Given the description of an element on the screen output the (x, y) to click on. 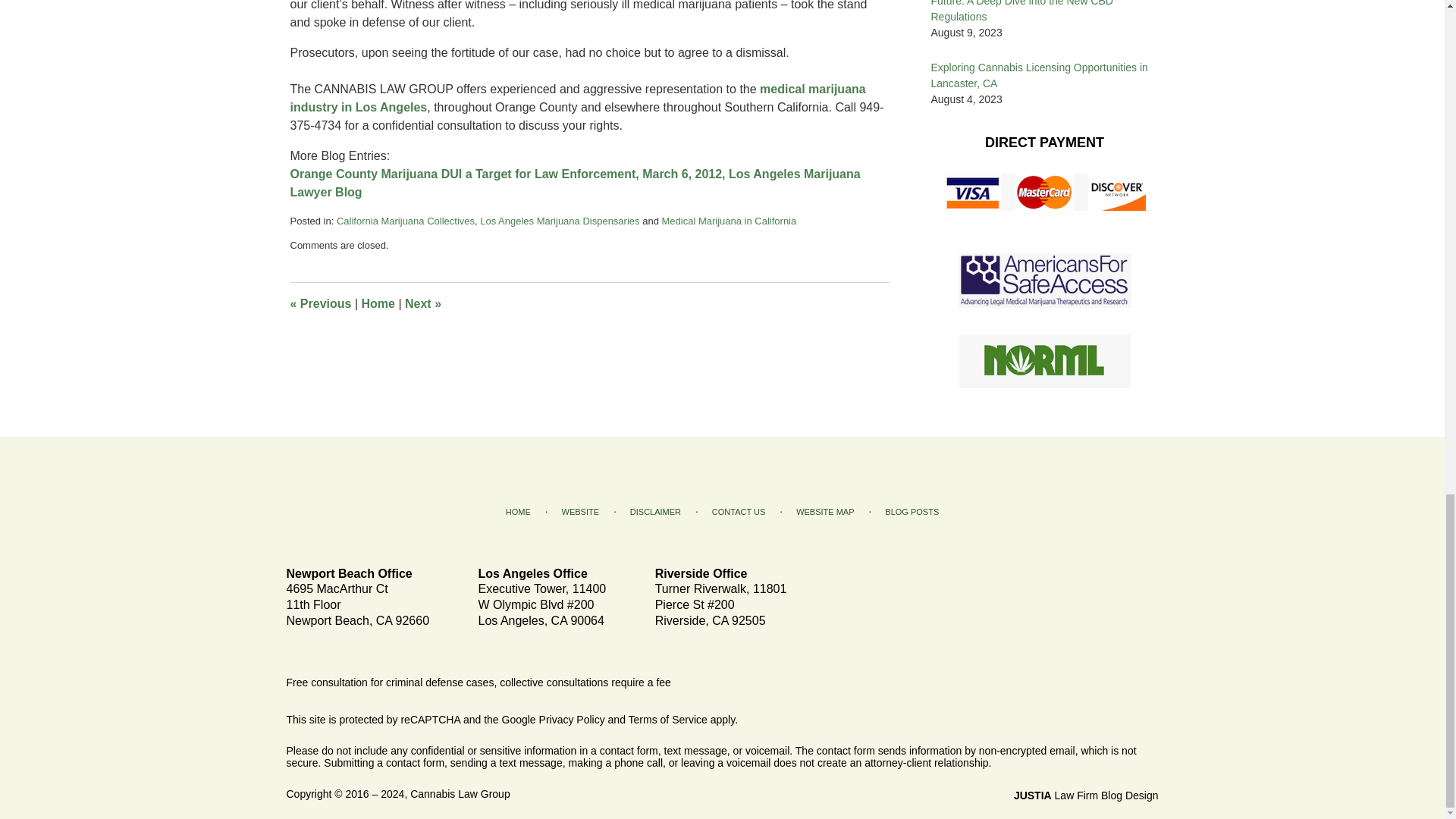
View all posts in Medical Marijuana in California (728, 220)
View all posts in Los Angeles Marijuana Dispensaries (559, 220)
View all posts in California Marijuana Collectives (405, 220)
